Given the description of an element on the screen output the (x, y) to click on. 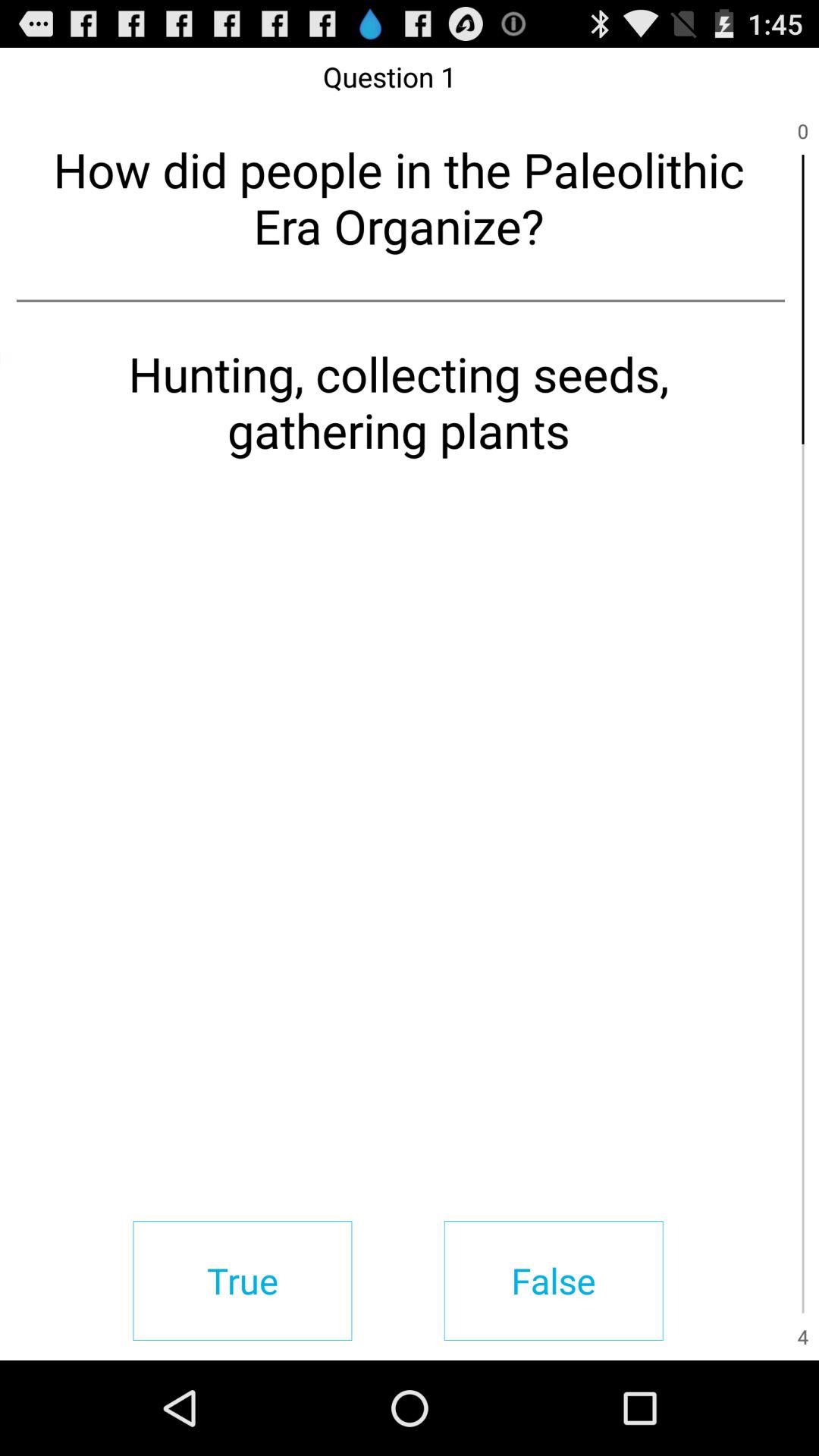
launch icon to the right of hunting collecting seeds icon (802, 588)
